Given the description of an element on the screen output the (x, y) to click on. 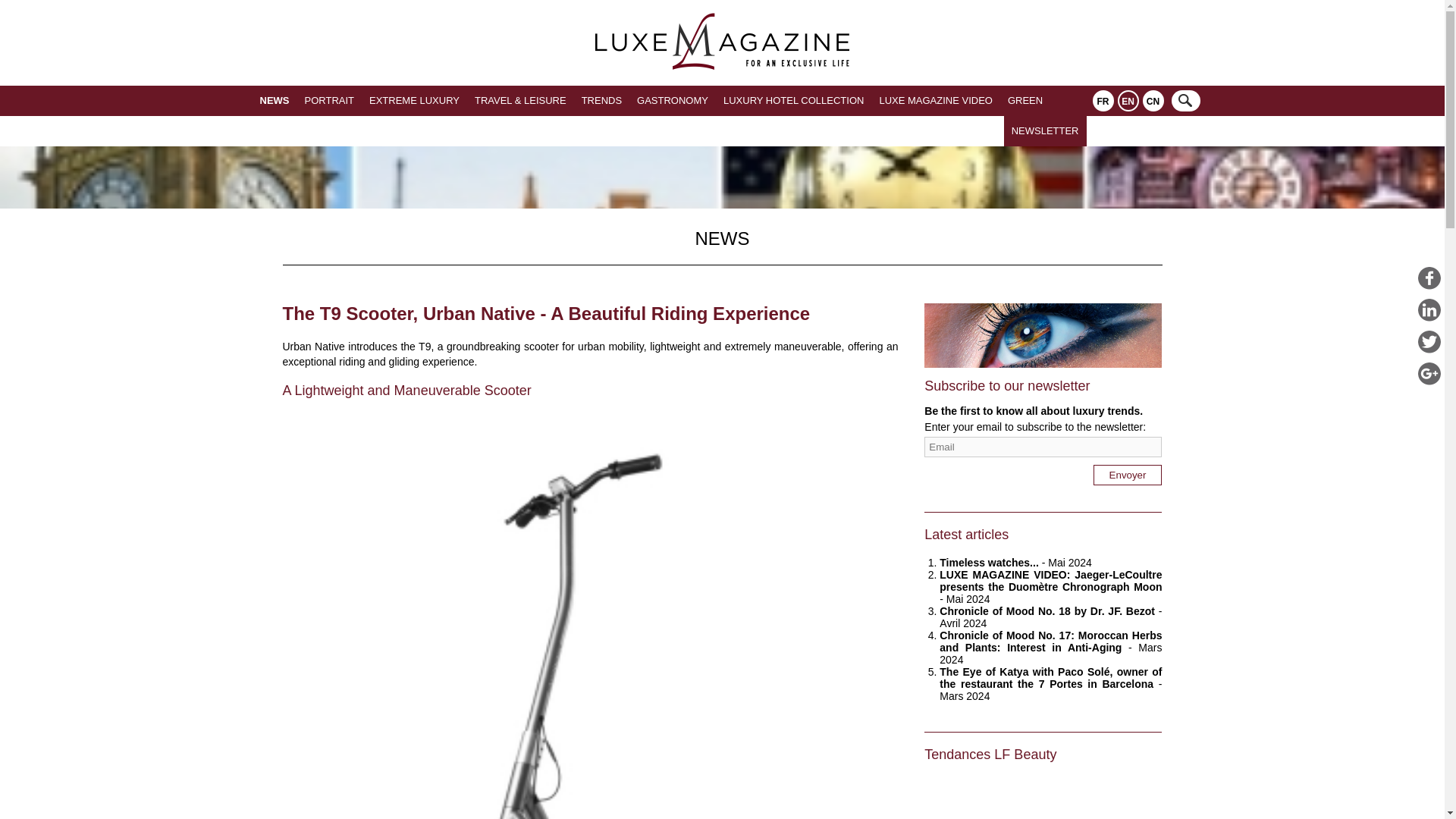
EN (1128, 100)
CN (1152, 100)
FR (1102, 100)
NEWS (274, 100)
PORTRAIT (329, 100)
EXTREME LUXURY (414, 100)
Envoyer (1127, 475)
